Given the description of an element on the screen output the (x, y) to click on. 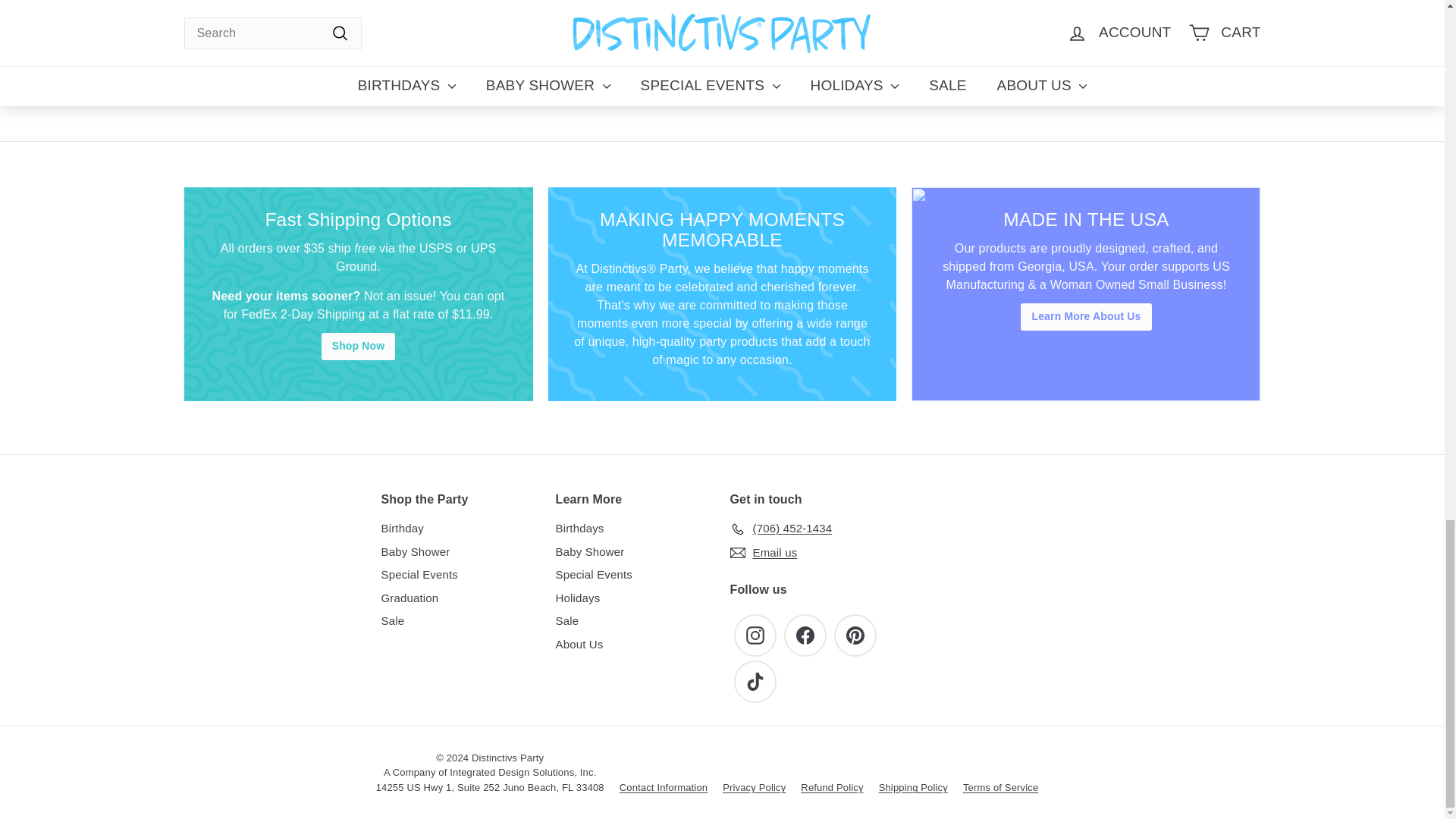
Distinctivs Party on TikTok (754, 681)
Distinctivs Party on Pinterest (855, 635)
instagram (754, 635)
Distinctivs Party on Instagram (754, 635)
Distinctivs Party on Facebook (805, 635)
